Given the description of an element on the screen output the (x, y) to click on. 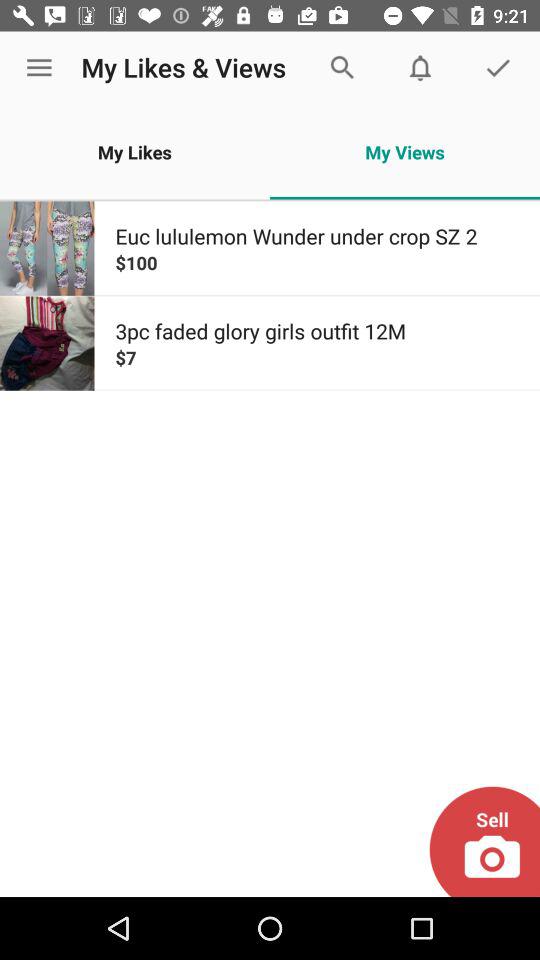
select the icon below $7 item (484, 841)
